Given the description of an element on the screen output the (x, y) to click on. 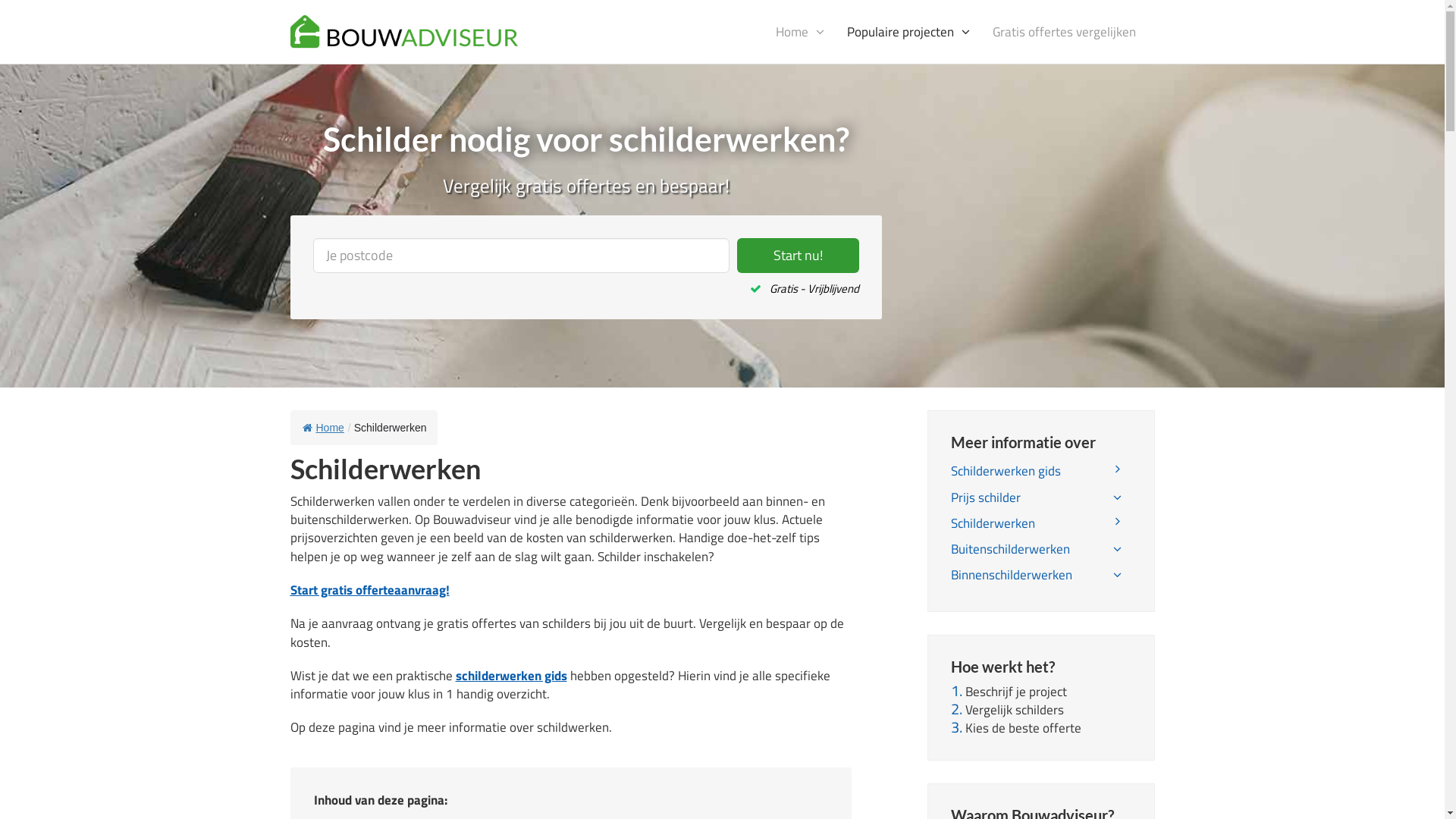
Start gratis offerteaanvraag! Element type: text (368, 589)
Schilderwerken gids Element type: text (1040, 470)
Gratis offertes vergelijken Element type: text (1064, 31)
Start nu! Element type: text (798, 255)
Home Element type: text (799, 31)
Home Element type: text (322, 427)
Binnenschilderwerken Element type: text (1040, 574)
Buitenschilderwerken Element type: text (1040, 548)
Schilderwerken Element type: text (1040, 523)
Prijs schilder Element type: text (1040, 496)
Bouwadviseur Element type: hover (403, 29)
Populaire projecten Element type: text (908, 31)
schilderwerken gids Element type: text (510, 675)
